Given the description of an element on the screen output the (x, y) to click on. 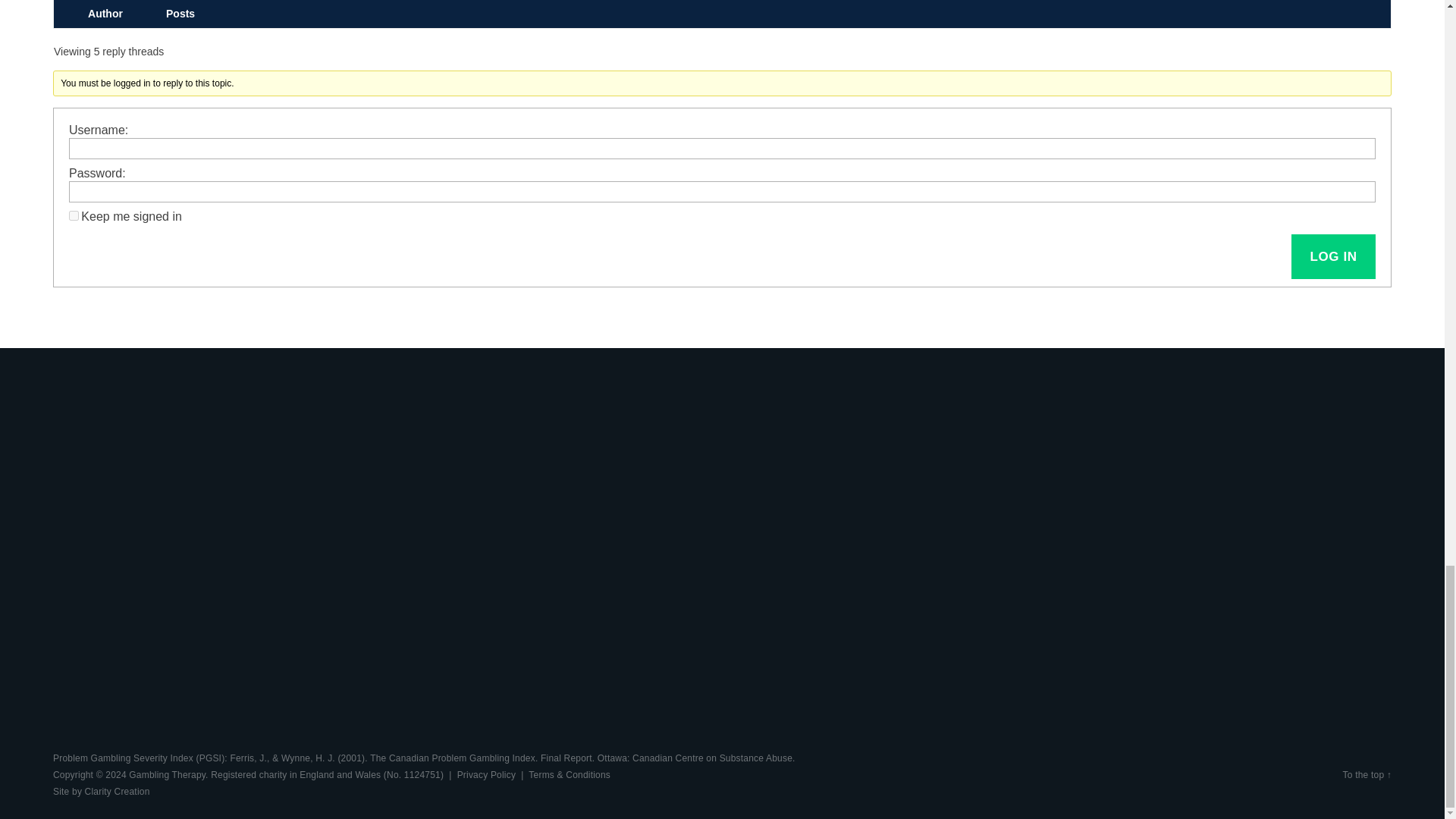
Visit the Clarity Creation website (100, 791)
forever (73, 215)
